Given the description of an element on the screen output the (x, y) to click on. 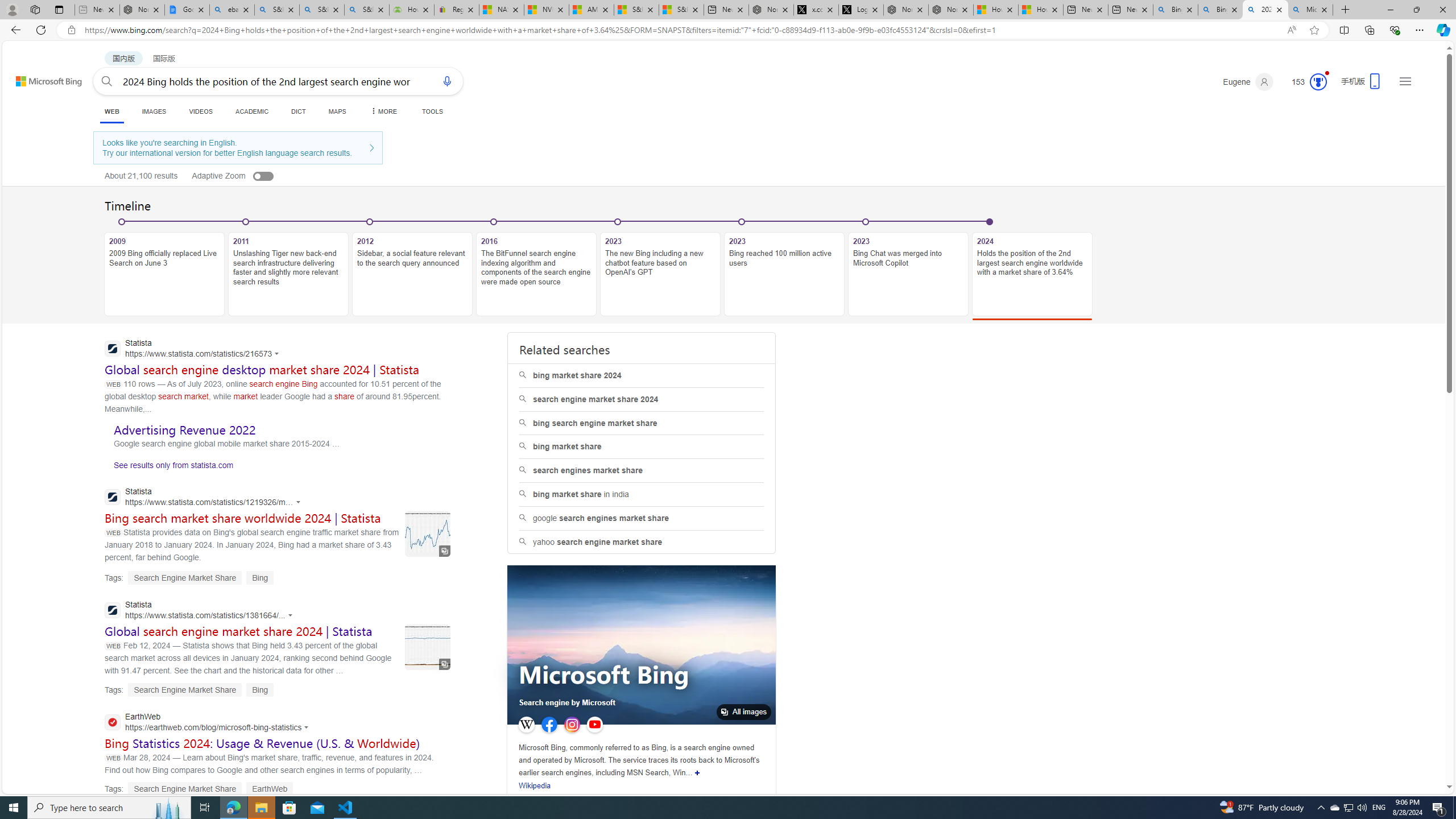
Dropdown Menu (382, 111)
bing market share 2024 (641, 375)
How to Use a Monitor With Your Closed Laptop (1040, 9)
ACADEMIC (252, 111)
AutomationID: mfa_root (1406, 752)
search engine market share 2024 (641, 399)
bing market share (641, 446)
Search using voice (446, 80)
Log in to X / X (861, 9)
